Given the description of an element on the screen output the (x, y) to click on. 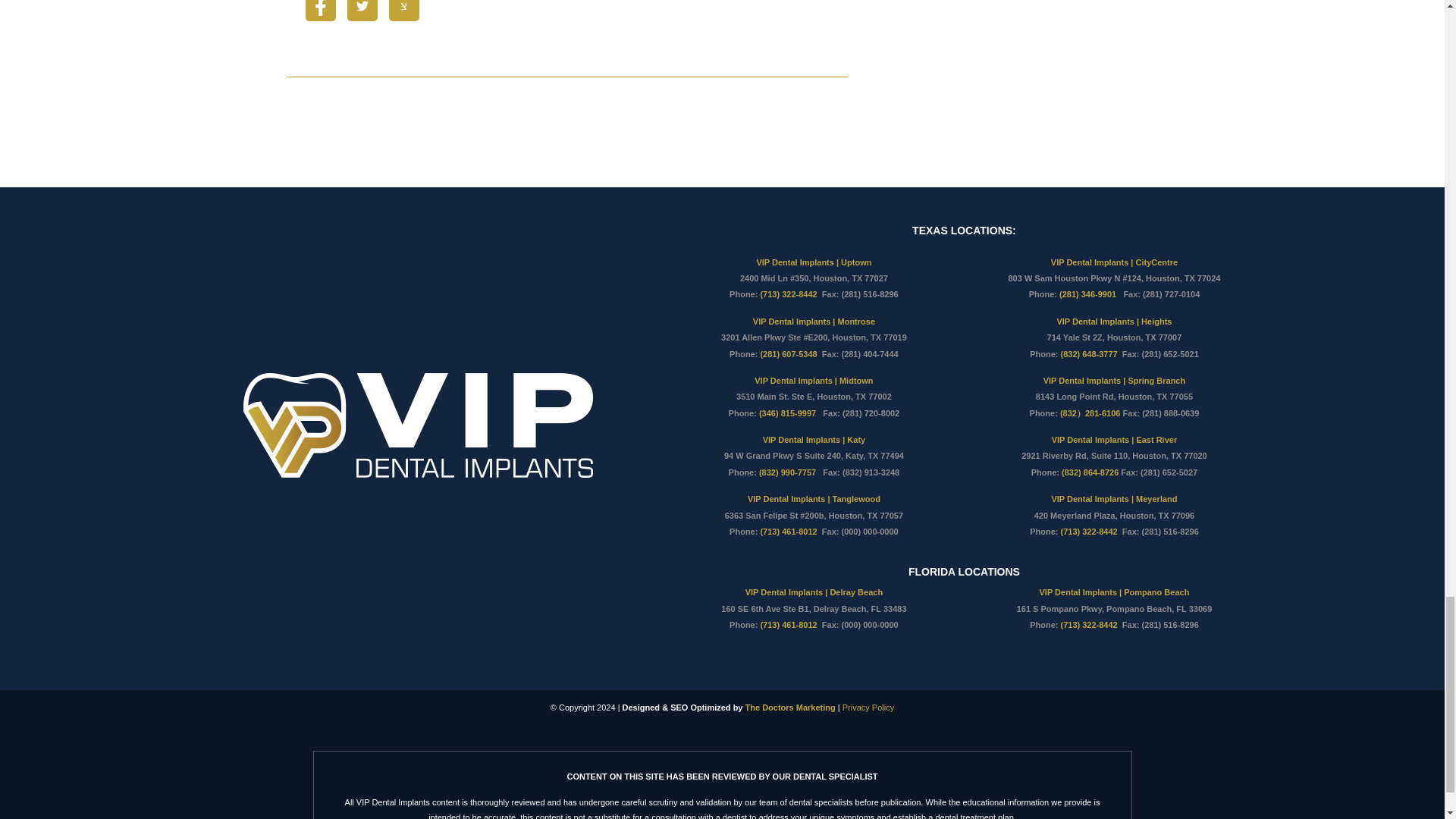
 Privacy Policy (867, 706)
The Doctors Marketing (790, 706)
